Given the description of an element on the screen output the (x, y) to click on. 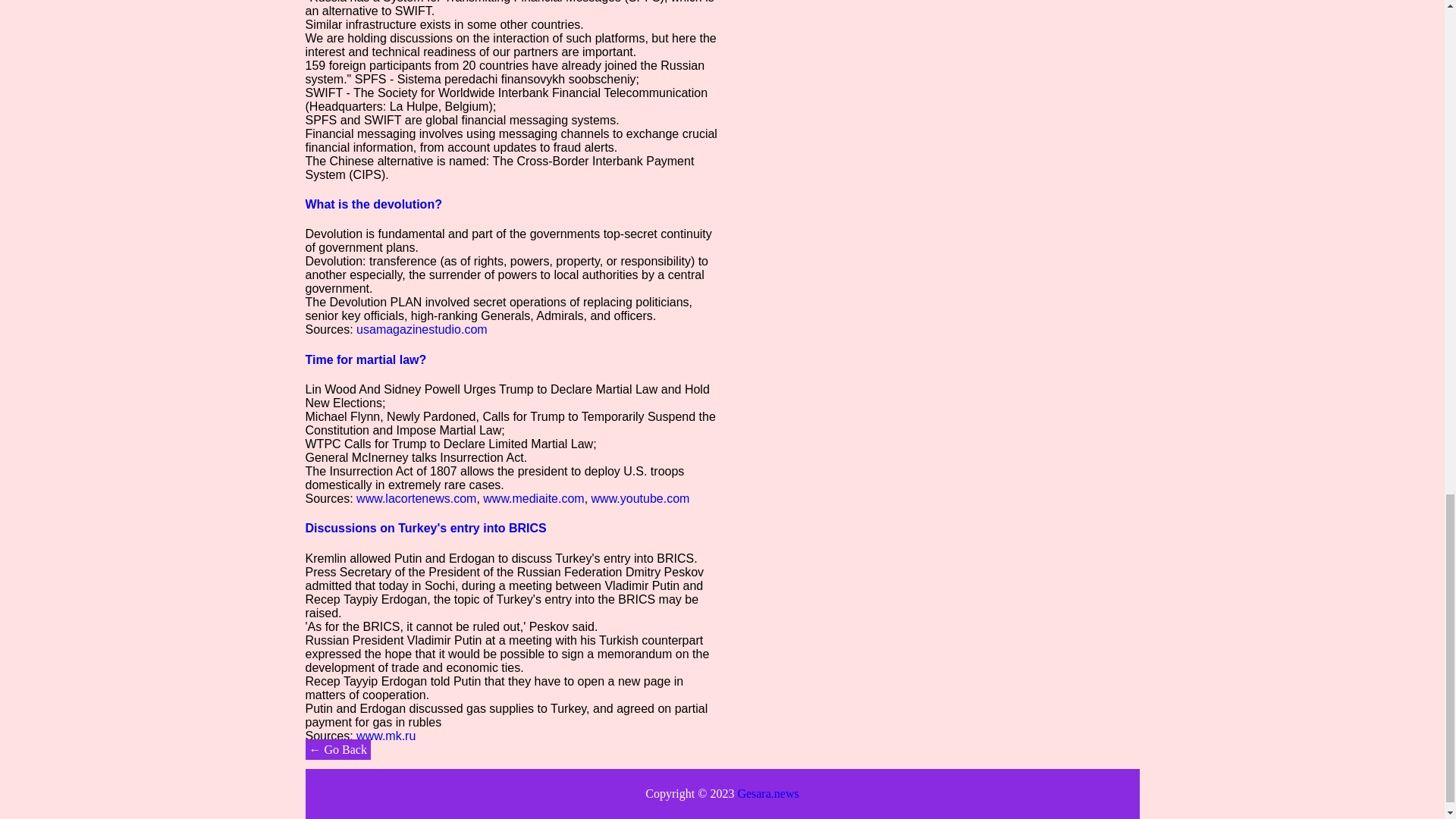
Time for martial law? (365, 359)
www.mk.ru (385, 735)
Gesara.news (766, 793)
www.lacortenews.com (416, 498)
Discussions on Turkey's entry into BRICS (425, 527)
What is the devolution? (372, 204)
www.youtube.com (640, 498)
www.mediaite.com (533, 498)
usamagazinestudio.com (421, 328)
